Given the description of an element on the screen output the (x, y) to click on. 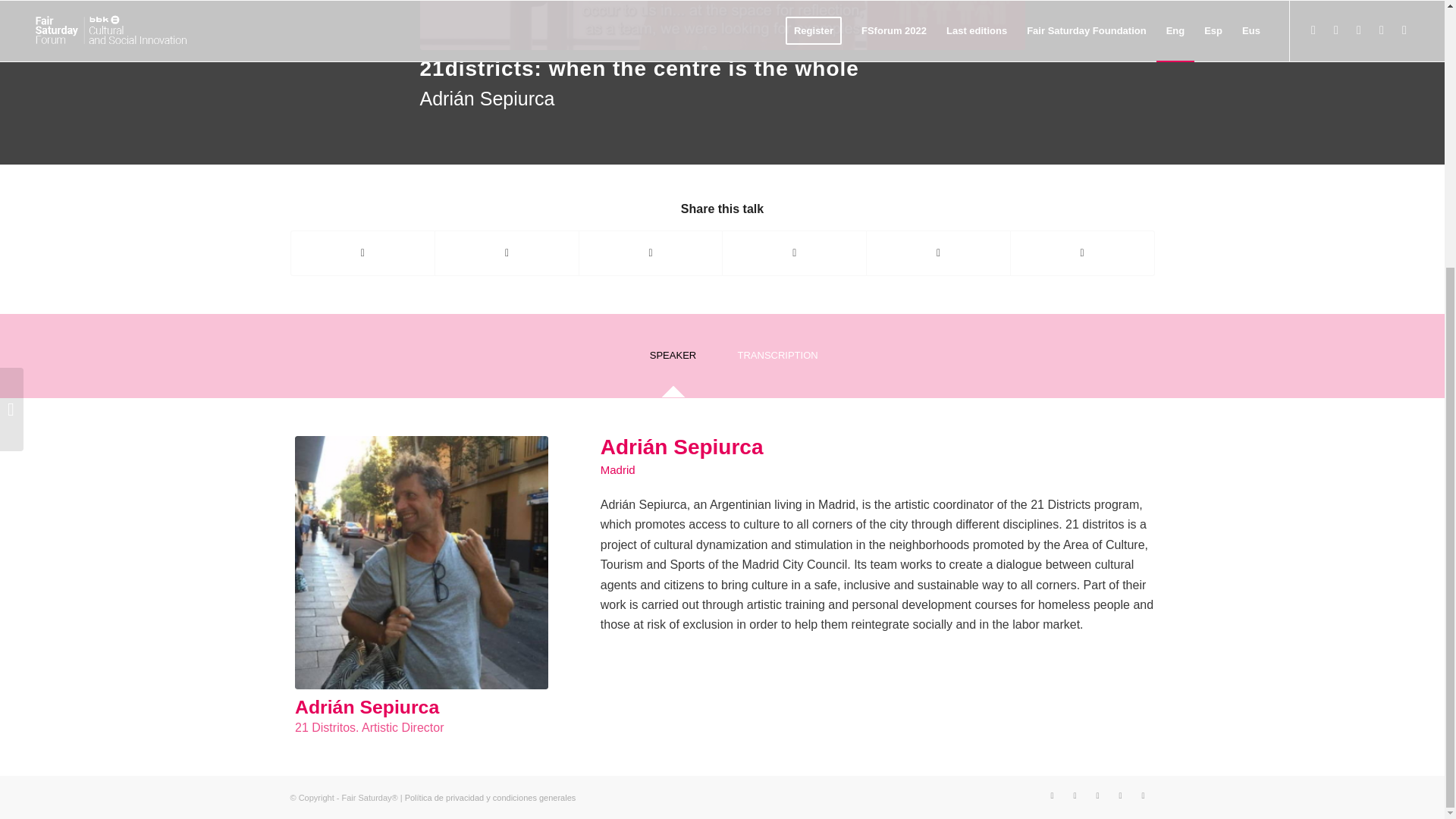
TRANSCRIPTION (771, 360)
SPEAKER (672, 360)
